Given the description of an element on the screen output the (x, y) to click on. 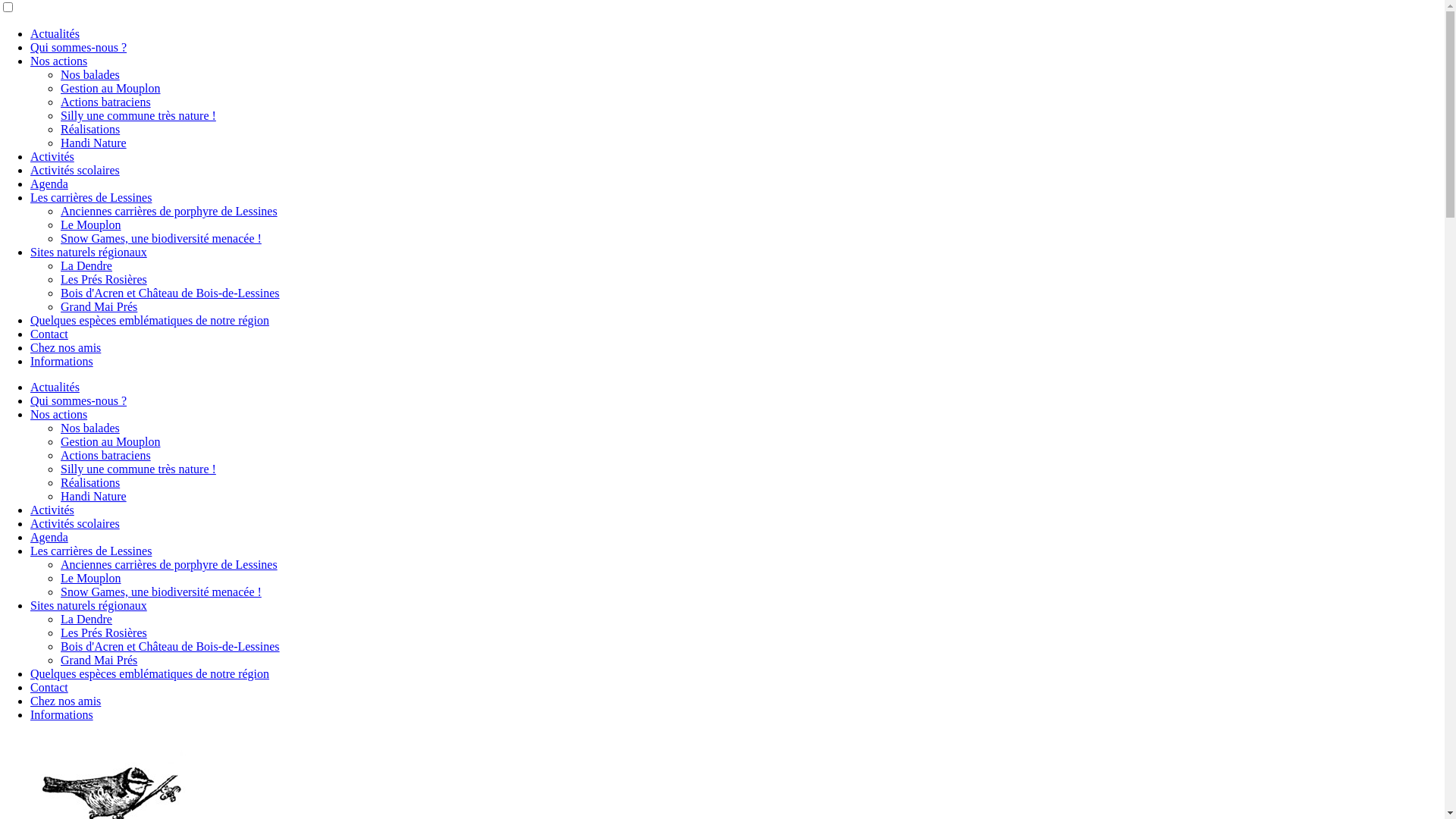
Qui sommes-nous ? Element type: text (78, 46)
Contact Element type: text (49, 686)
Informations Element type: text (61, 360)
Agenda Element type: text (49, 183)
Chez nos amis Element type: text (65, 347)
La Dendre Element type: text (86, 618)
Actions batraciens Element type: text (105, 101)
Nos actions Element type: text (58, 60)
Agenda Element type: text (49, 536)
Le Mouplon Element type: text (90, 577)
Nos balades Element type: text (89, 74)
Handi Nature Element type: text (93, 495)
Gestion au Mouplon Element type: text (110, 87)
Le Mouplon Element type: text (90, 224)
Actions batraciens Element type: text (105, 454)
Gestion au Mouplon Element type: text (110, 441)
Handi Nature Element type: text (93, 142)
Nos balades Element type: text (89, 427)
Nos actions Element type: text (58, 413)
Contact Element type: text (49, 333)
Chez nos amis Element type: text (65, 700)
Qui sommes-nous ? Element type: text (78, 400)
Informations Element type: text (61, 714)
La Dendre Element type: text (86, 265)
